Given the description of an element on the screen output the (x, y) to click on. 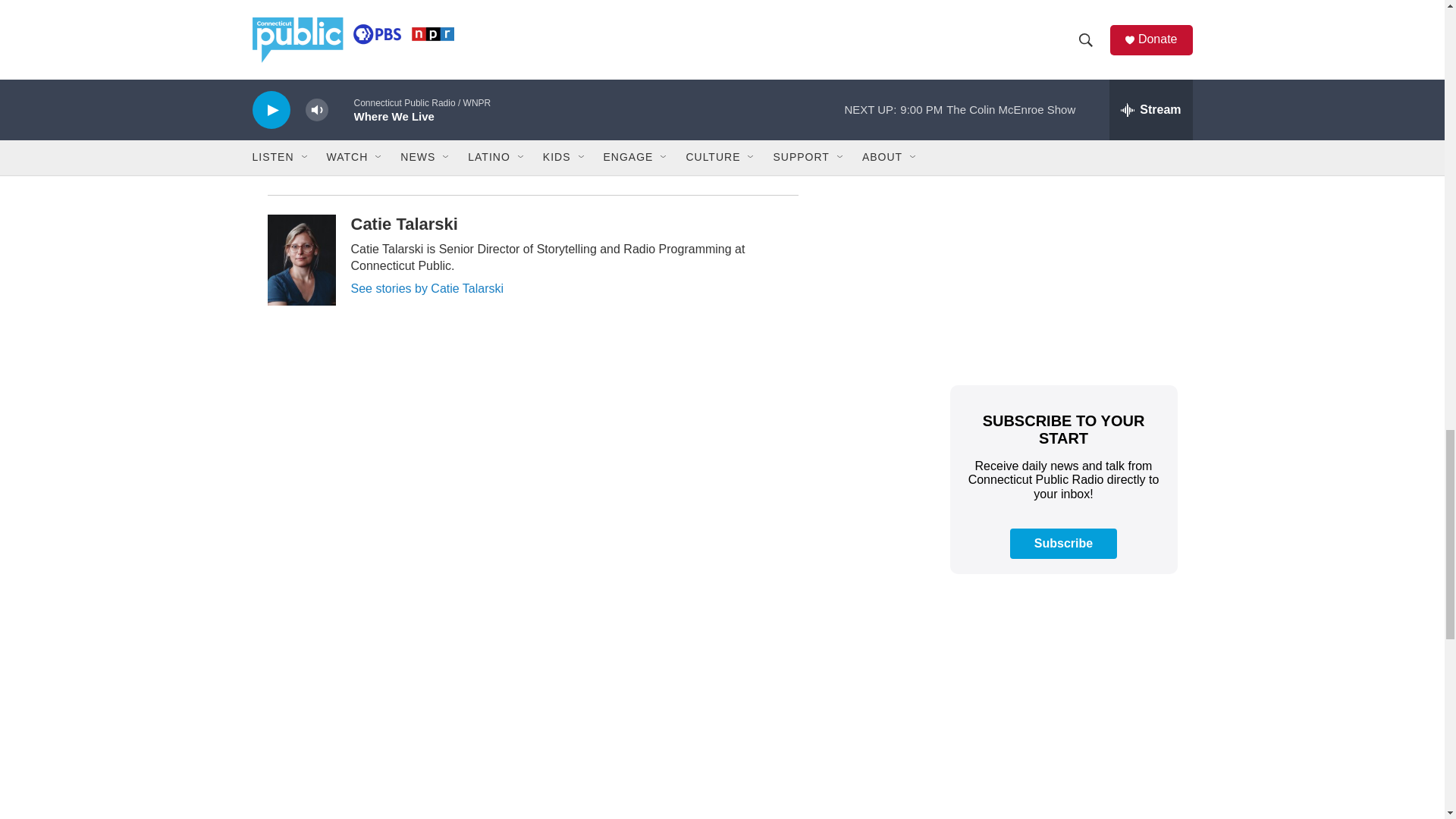
3rd party ad content (1062, 698)
3rd party ad content (1062, 259)
3rd party ad content (1062, 67)
